Given the description of an element on the screen output the (x, y) to click on. 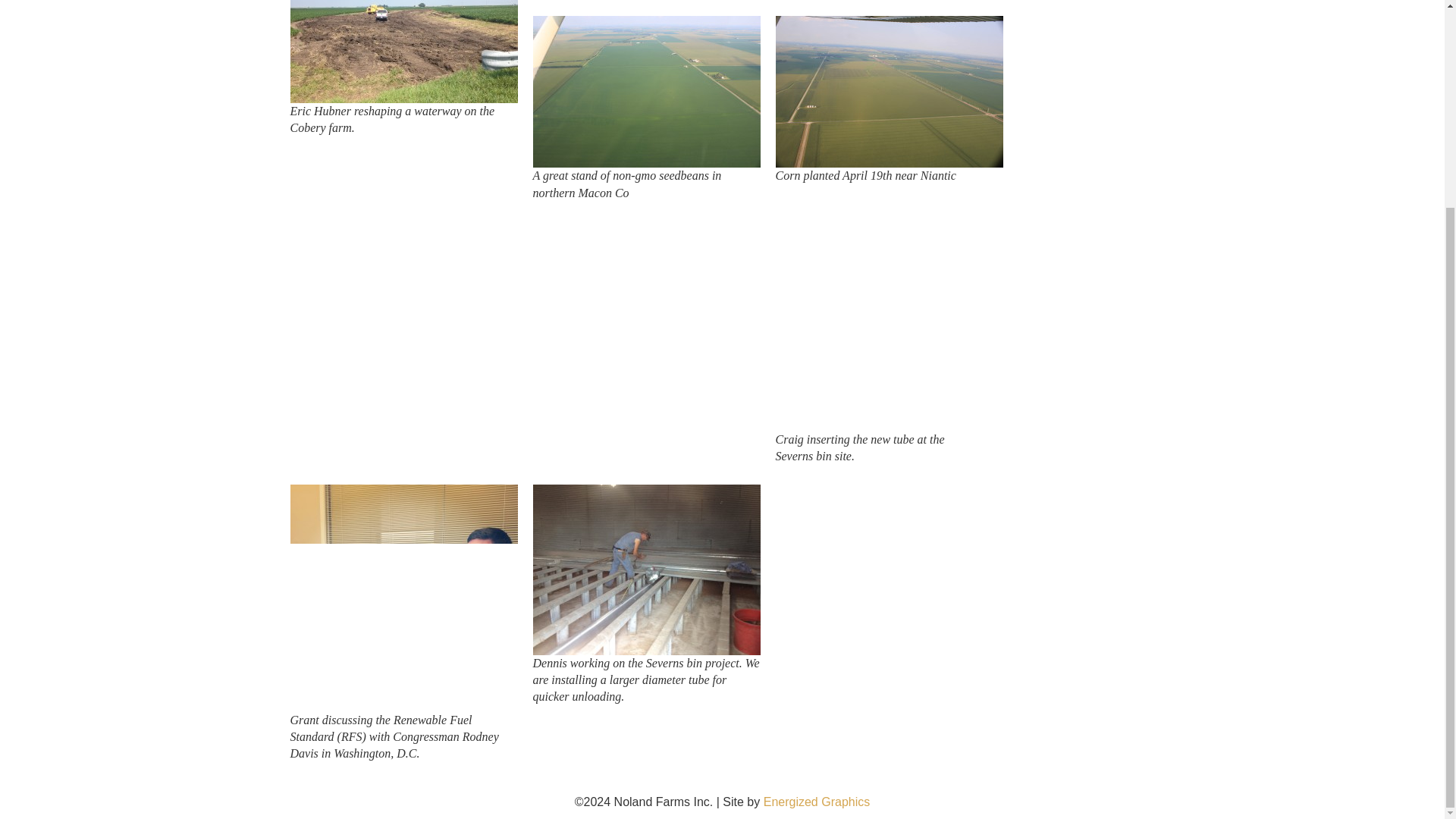
Energized Graphics (816, 801)
